Given the description of an element on the screen output the (x, y) to click on. 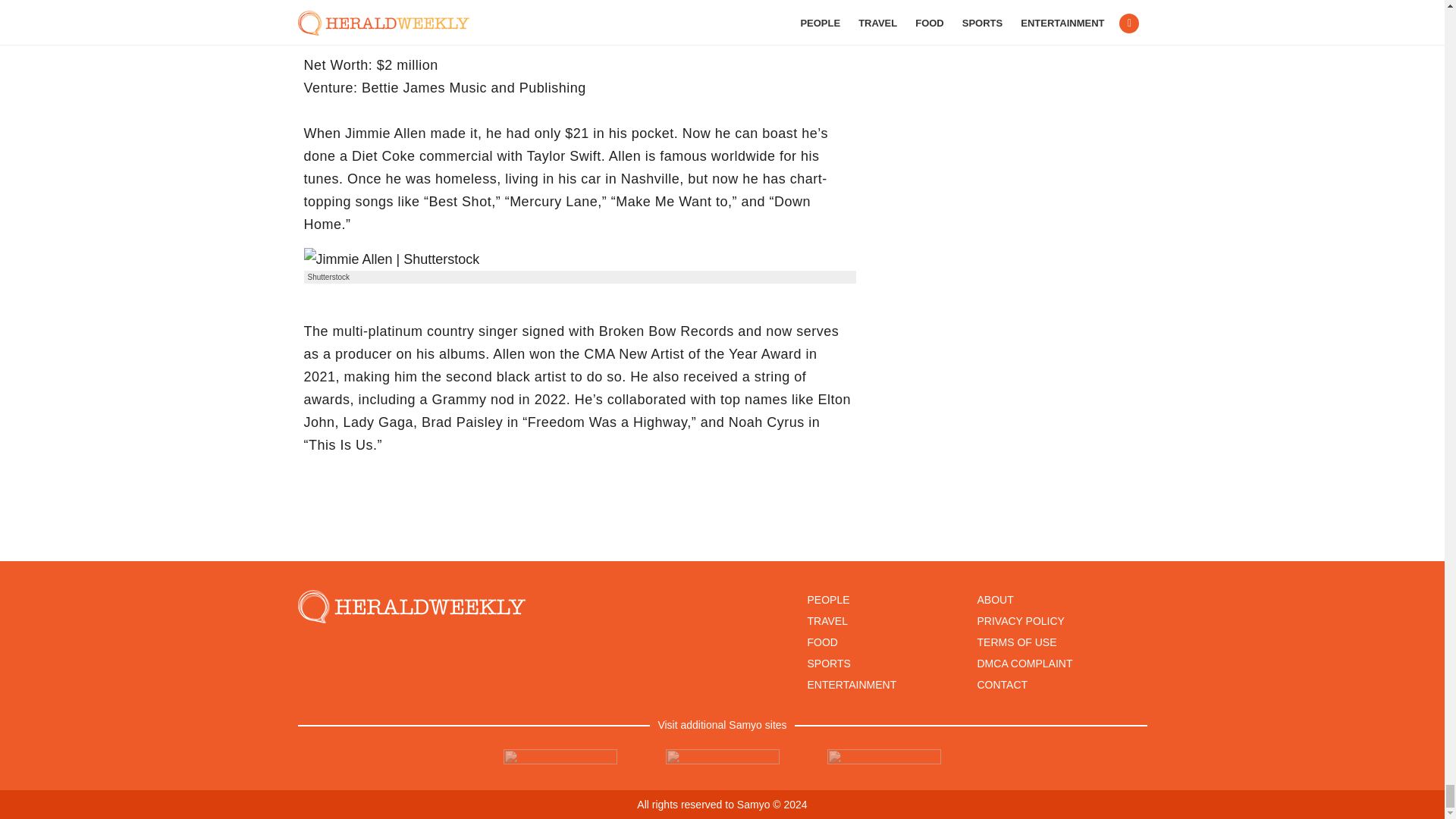
SPORTS (828, 663)
ABOUT (994, 599)
TERMS OF USE (1016, 642)
PRIVACY POLICY (1020, 621)
DMCA COMPLAINT (1023, 663)
FOOD (821, 642)
TRAVEL (826, 621)
ENTERTAINMENT (851, 684)
CONTACT (1001, 684)
PEOPLE (827, 599)
